Given the description of an element on the screen output the (x, y) to click on. 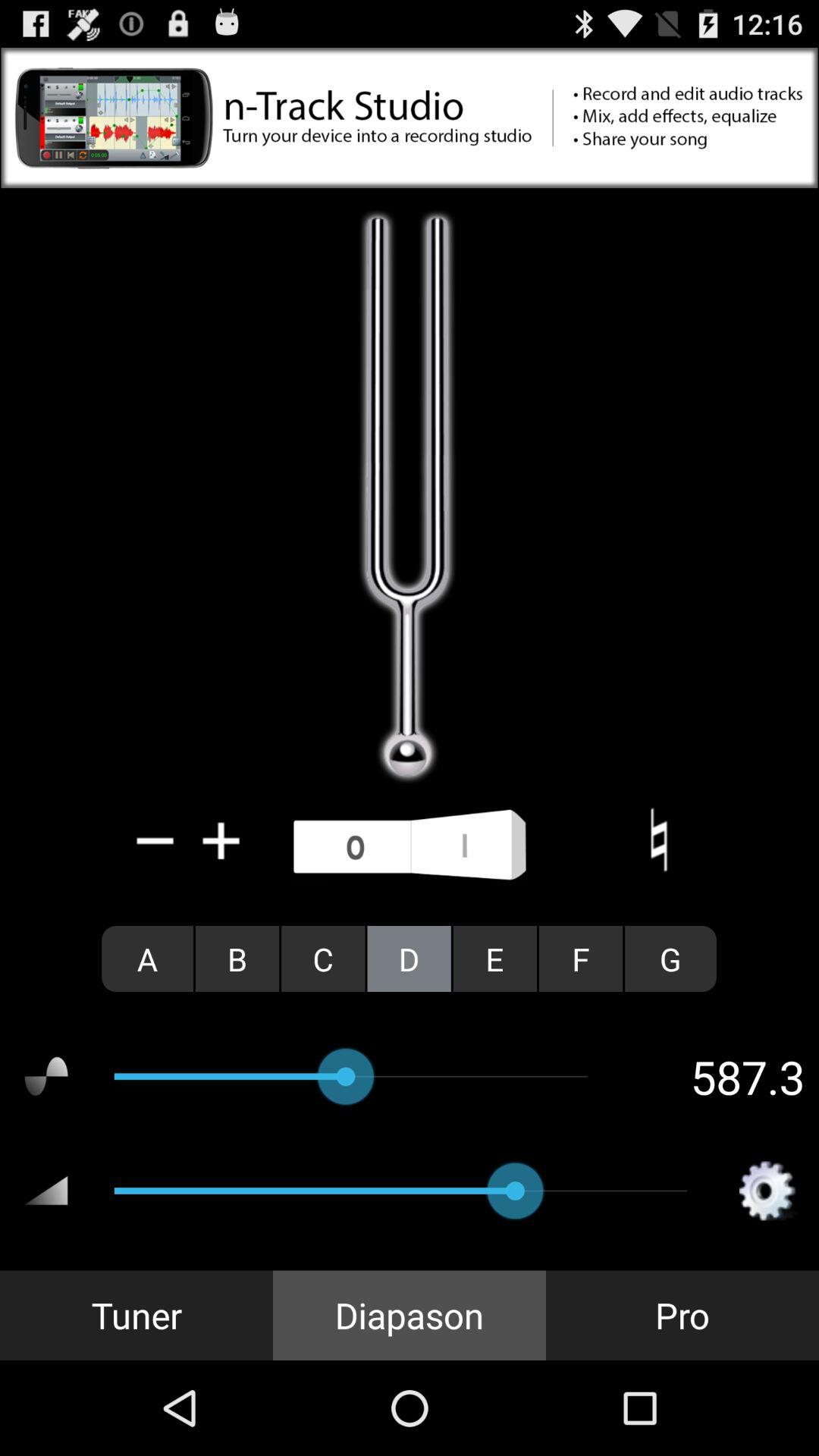
launch the radio button to the left of the g radio button (580, 958)
